Given the description of an element on the screen output the (x, y) to click on. 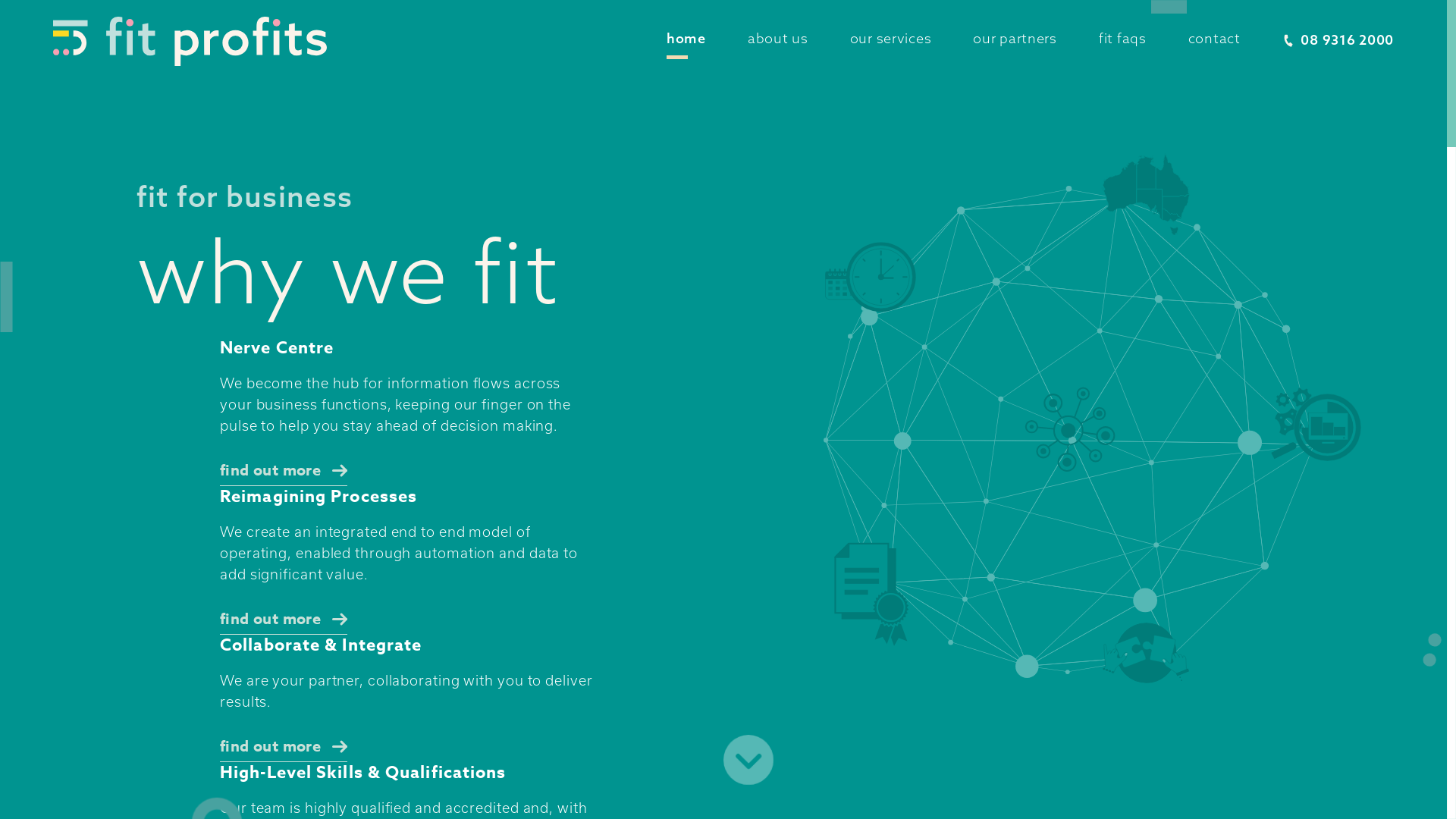
find out more Element type: text (283, 749)
contact Element type: text (1214, 37)
08 9316 2000 Element type: text (1337, 38)
find out more Element type: text (283, 473)
about us Element type: text (777, 37)
home Element type: text (686, 37)
Fit Profits - Homepage Element type: hover (189, 40)
fit faqs Element type: text (1122, 37)
our services Element type: text (890, 37)
our partners Element type: text (1014, 37)
find out more Element type: text (283, 621)
